Given the description of an element on the screen output the (x, y) to click on. 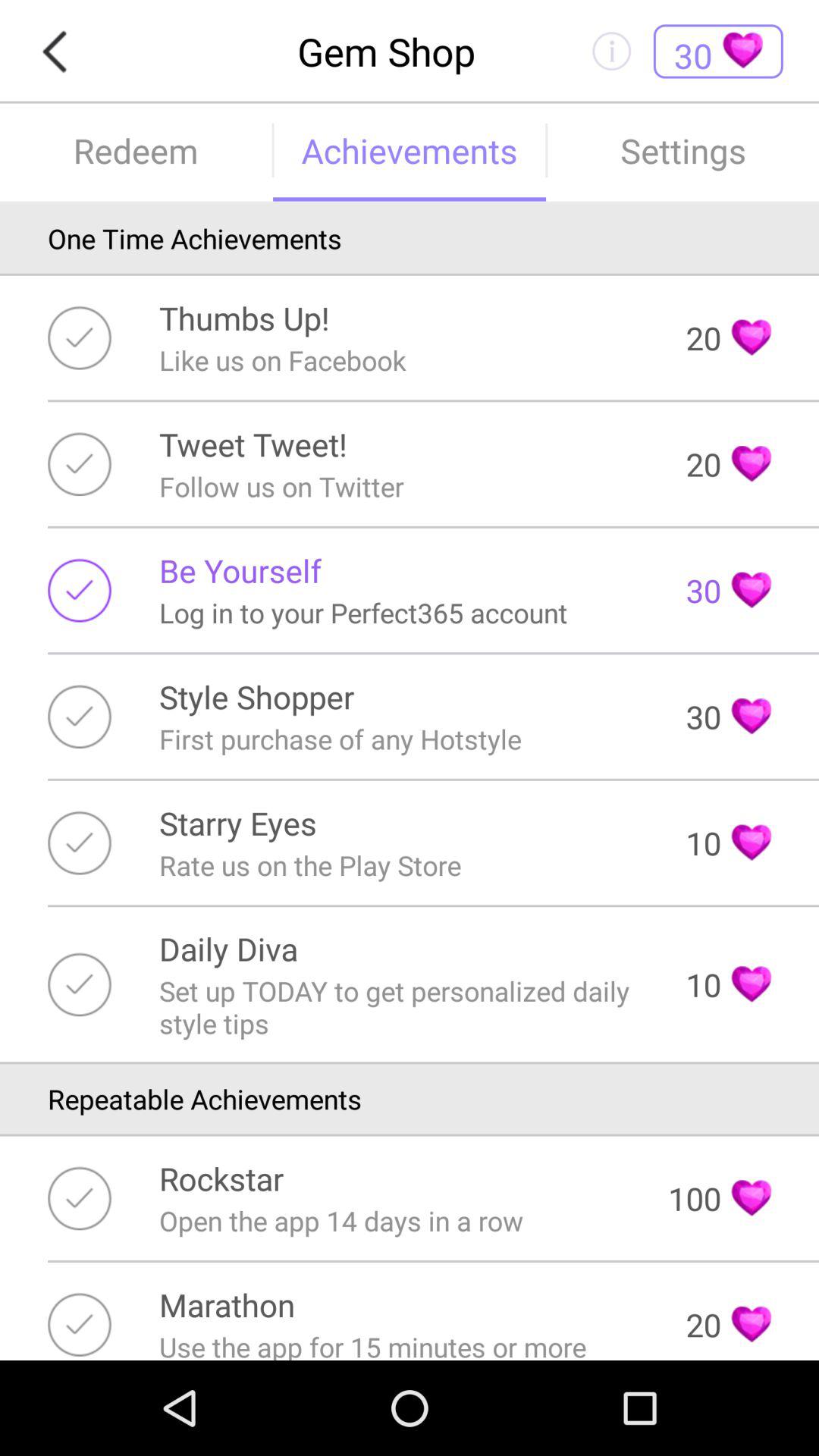
select item above first purchase of item (256, 696)
